Given the description of an element on the screen output the (x, y) to click on. 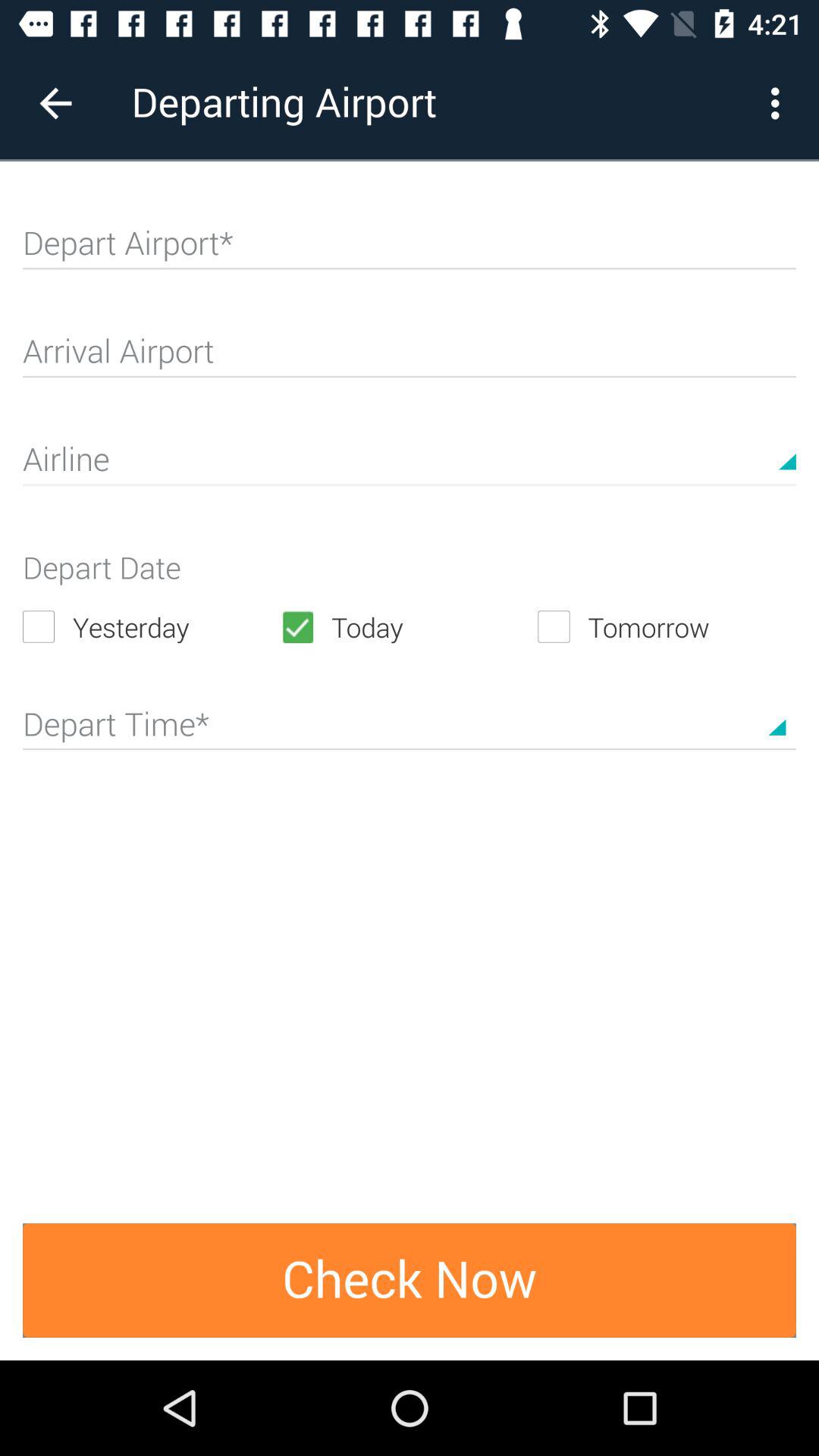
scroll to tomorrow item (667, 626)
